Given the description of an element on the screen output the (x, y) to click on. 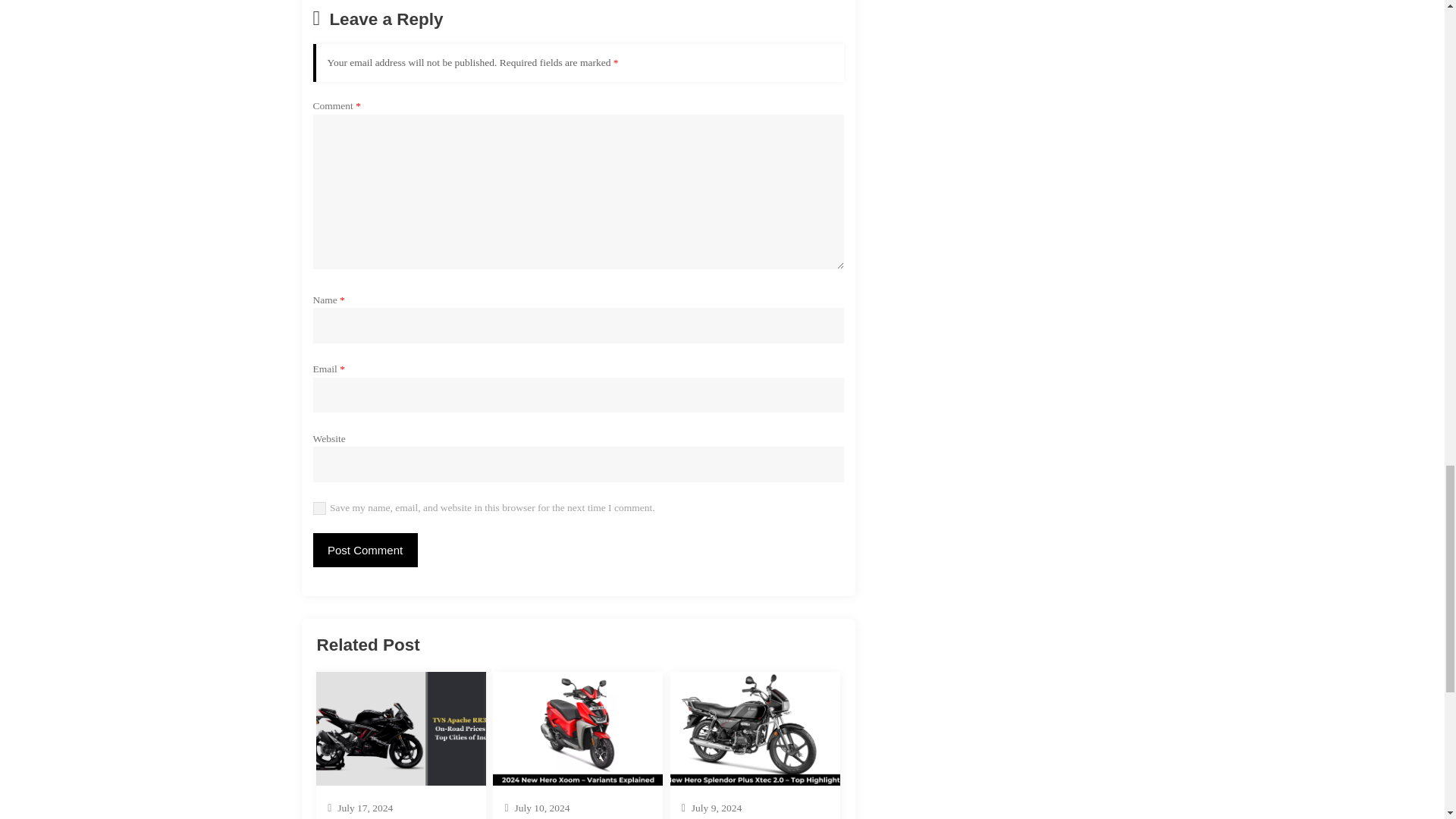
Post Comment (364, 550)
Post Comment (364, 550)
